Given the description of an element on the screen output the (x, y) to click on. 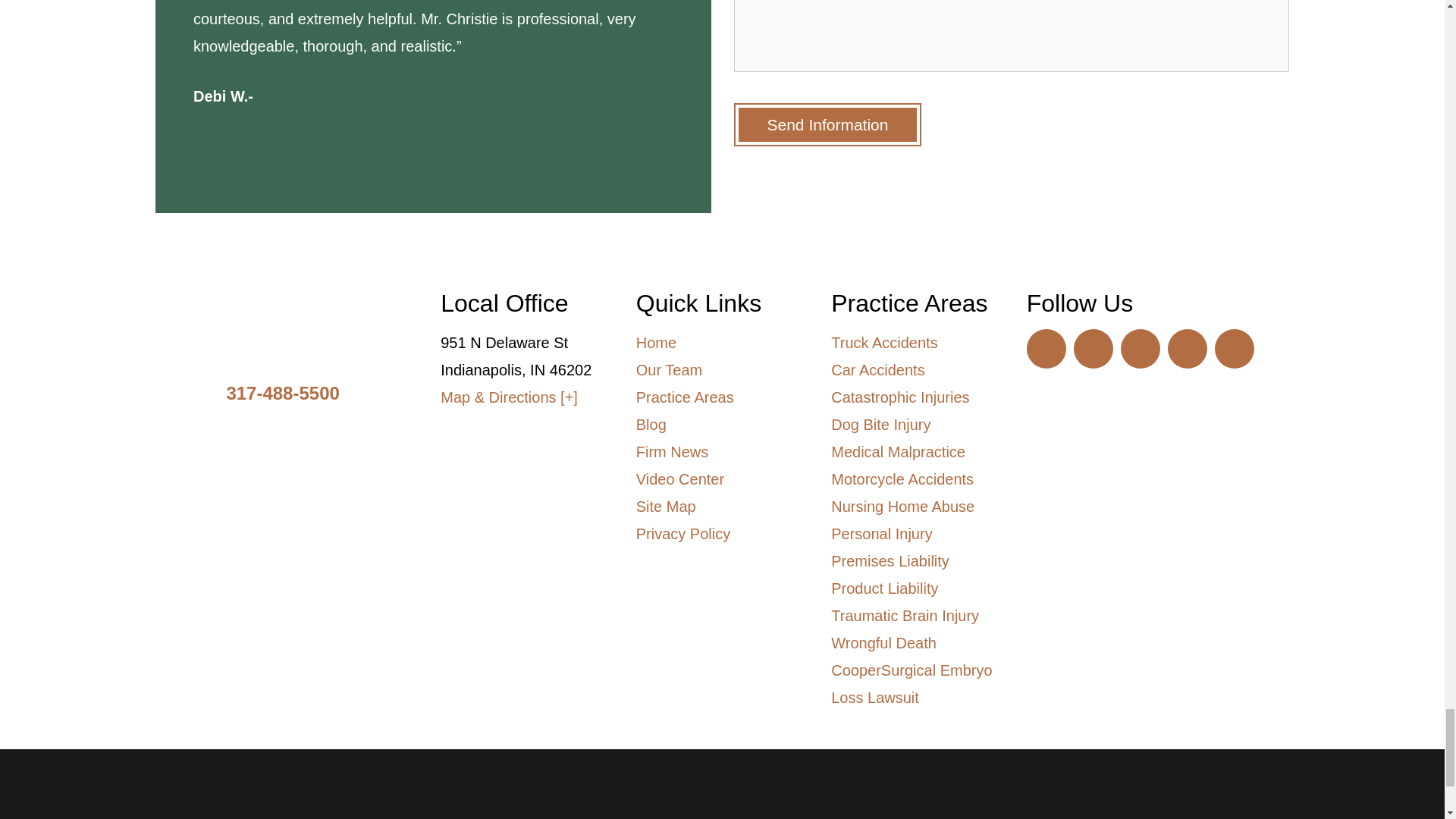
Follow Us on LinkedIn (1093, 348)
Follow Us on Google Business (1187, 348)
Follow Us on YouTube (1045, 348)
Follow Us on Yelp (1233, 348)
Follow Us on Facebook (1140, 348)
Call Us Today (282, 393)
